Given the description of an element on the screen output the (x, y) to click on. 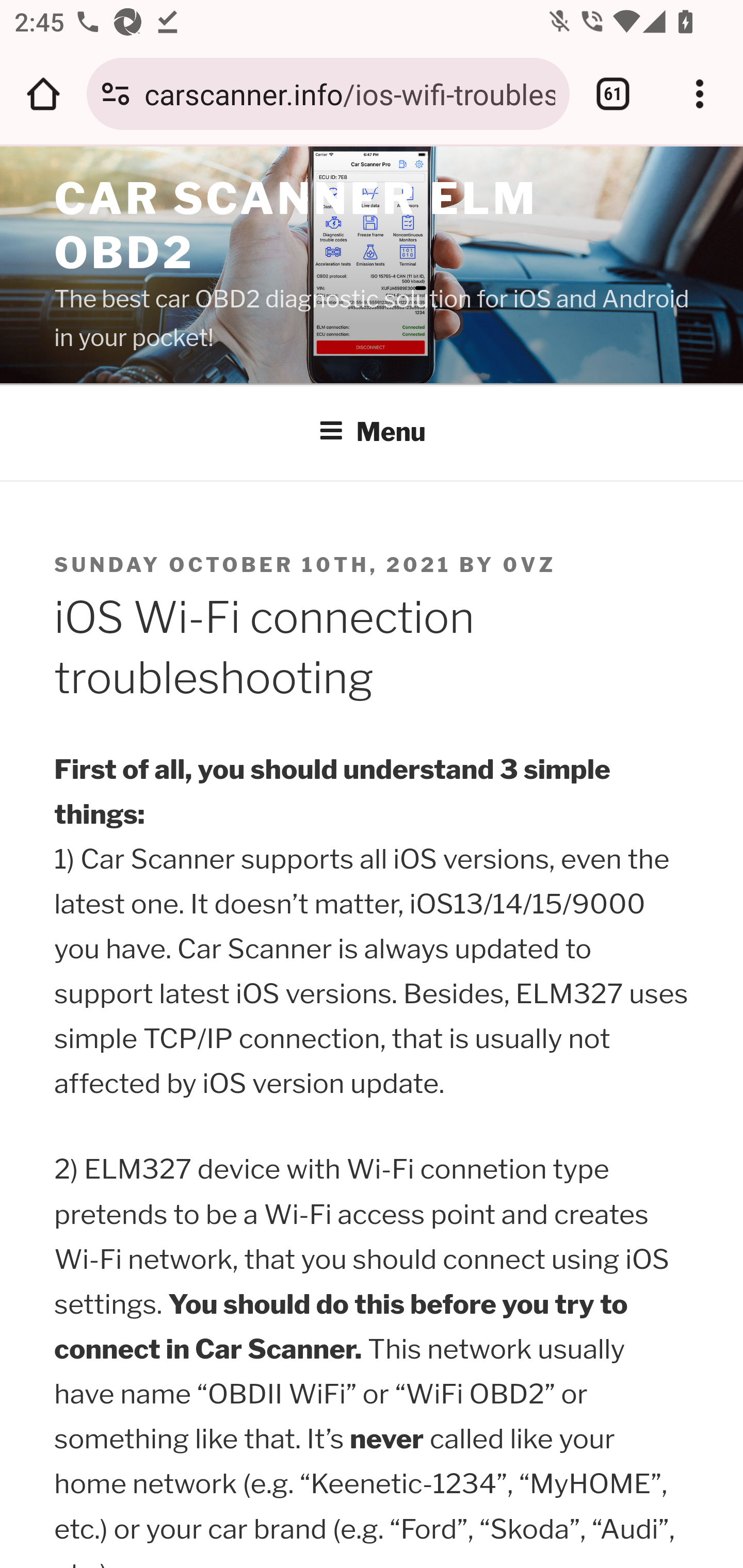
Open the home page (43, 93)
Connection is secure (115, 93)
Switch or close tabs (612, 93)
Customize and control Google Chrome (699, 93)
carscanner.info/ios-wifi-troubleshooting/ (349, 92)
Menu (372, 431)
SUNDAY OCTOBER 10TH, 2021 (253, 564)
0VZ (529, 564)
